Given the description of an element on the screen output the (x, y) to click on. 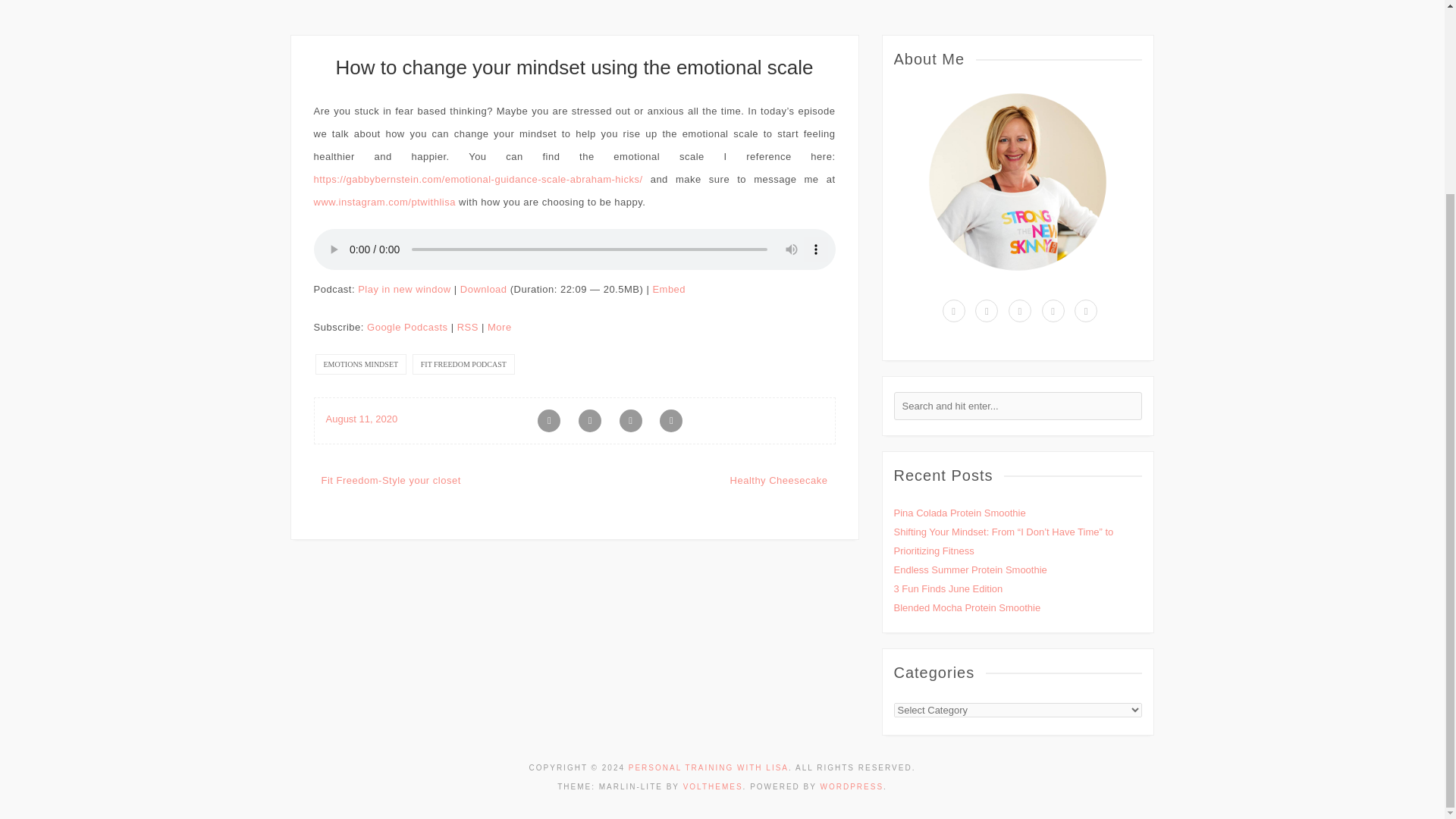
Healthy Cheesecake (779, 480)
FIT FREEDOM PODCAST (463, 363)
More (499, 326)
Download (483, 288)
Pina Colada Protein Smoothie (959, 512)
Google Podcasts (407, 326)
Fit Freedom-Style your closet (391, 480)
Embed (668, 288)
Download (483, 288)
Play in new window (403, 288)
